Given the description of an element on the screen output the (x, y) to click on. 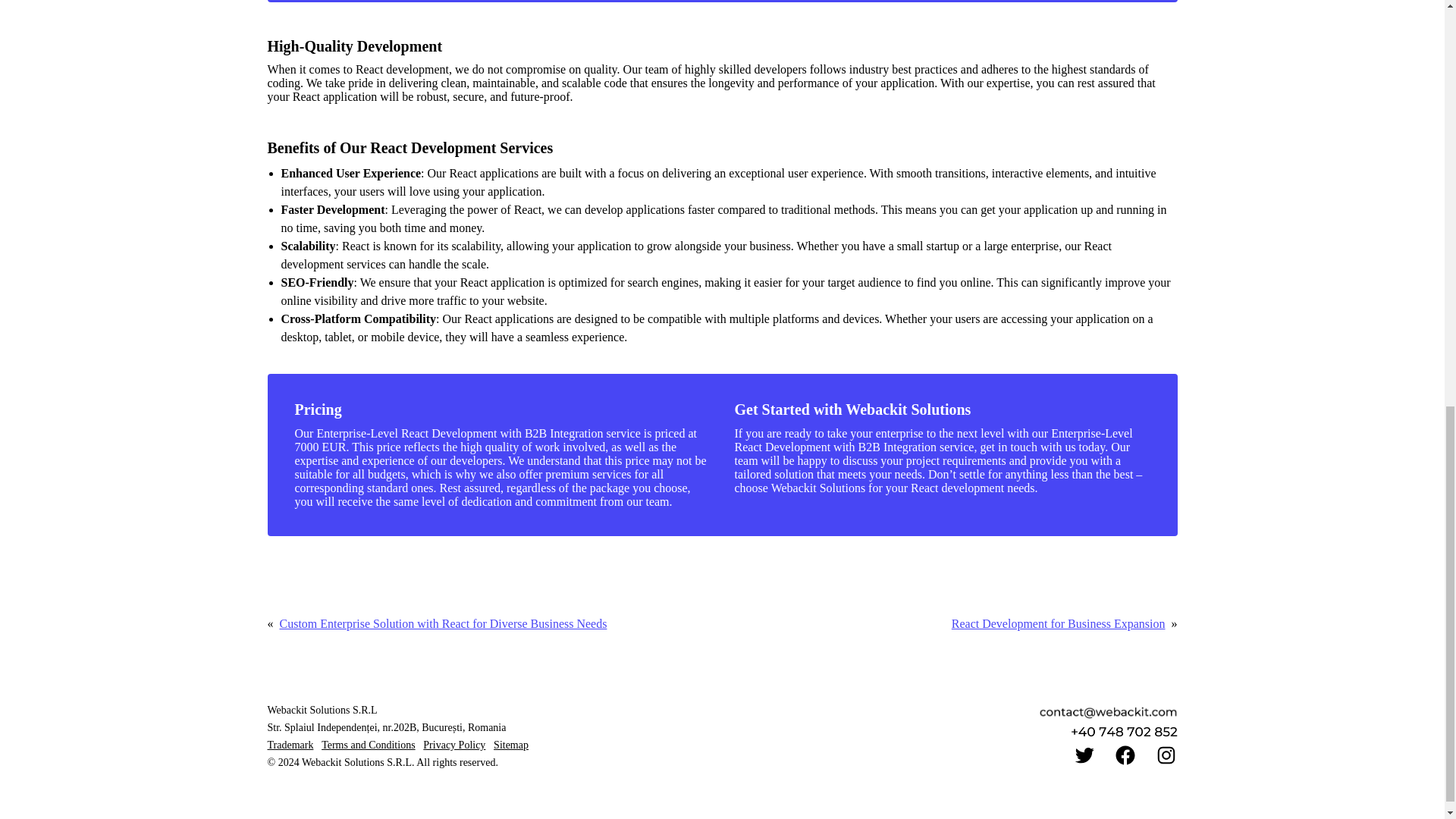
information is secured against bots. (1108, 712)
React Development for Business Expansion (1059, 623)
information is secured against bots. (1123, 731)
